Given the description of an element on the screen output the (x, y) to click on. 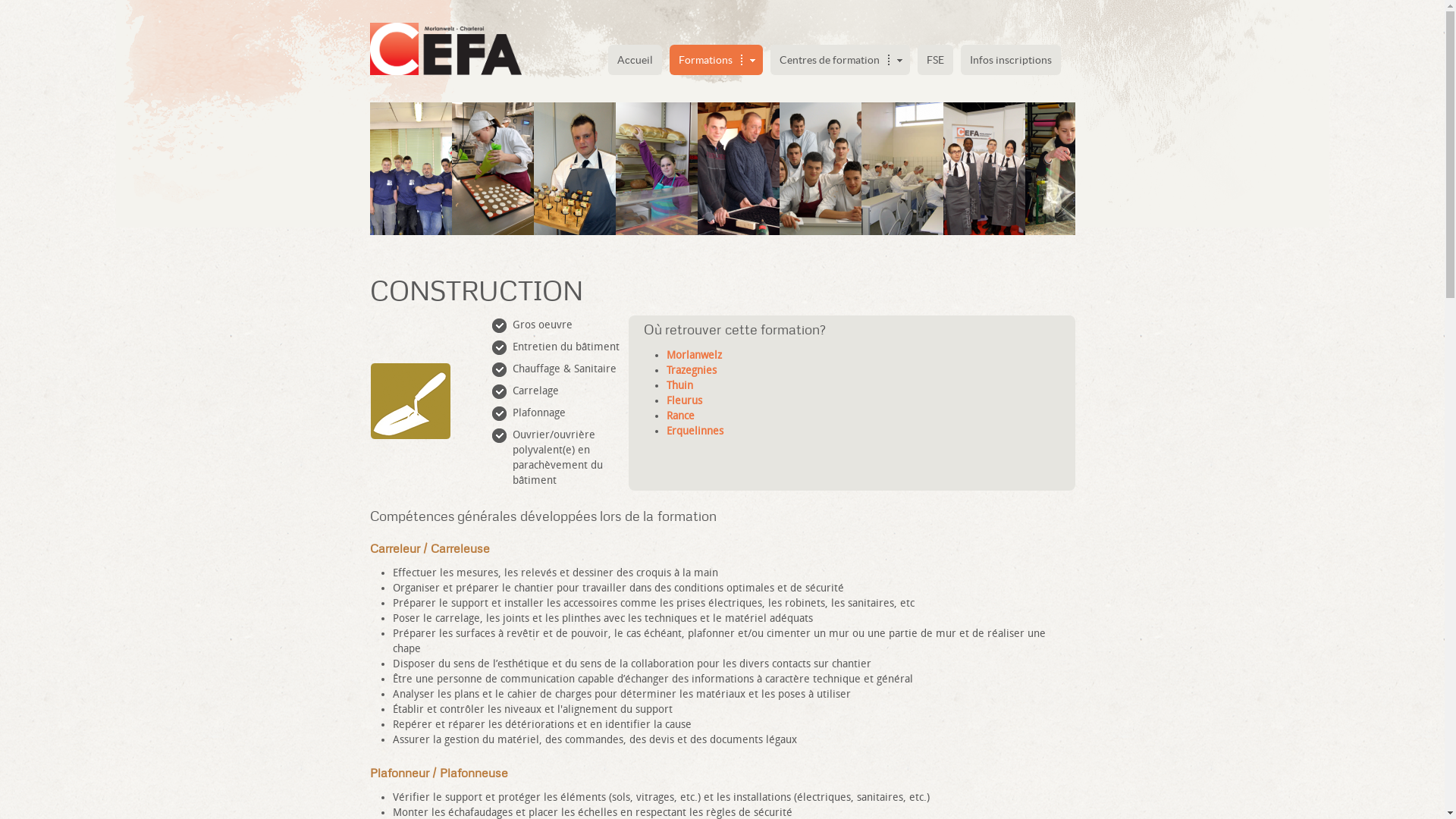
FSE Element type: text (935, 59)
Infos inscriptions Element type: text (1010, 59)
Trazegnies Element type: text (691, 370)
Fleurus Element type: text (684, 400)
Rance Element type: text (680, 415)
Formations Element type: text (715, 59)
Morlanwelz Element type: text (693, 354)
Accueil Element type: text (635, 59)
Erquelinnes Element type: text (694, 430)
Thuin Element type: text (679, 385)
